Given the description of an element on the screen output the (x, y) to click on. 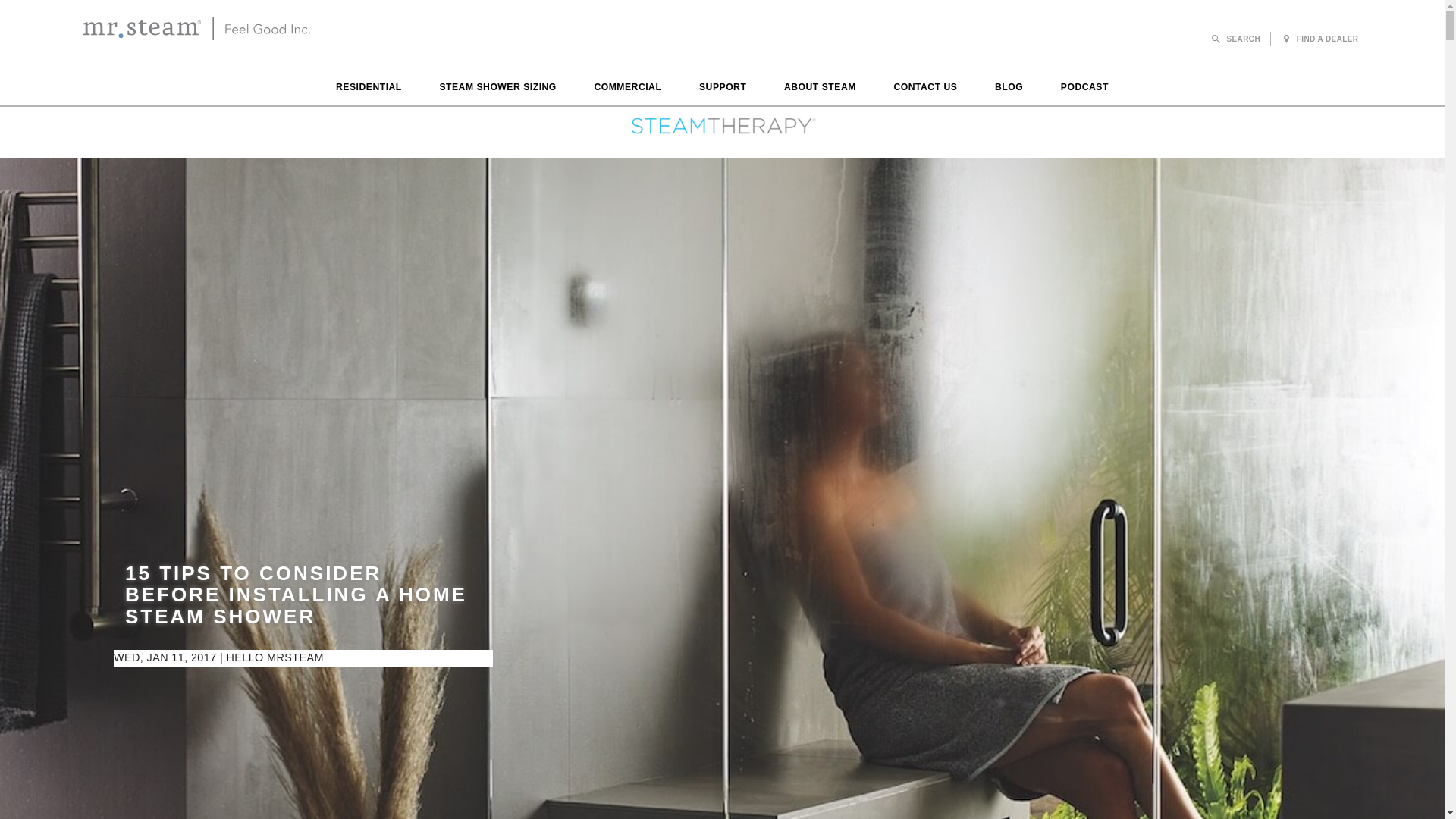
BLOG (1008, 89)
CONTACT US (925, 89)
RESIDENTIAL (368, 89)
PODCAST (1084, 89)
FIND A DEALER (1320, 39)
SUPPORT (722, 89)
SEARCH (1236, 39)
ABOUT STEAM (820, 89)
COMMERCIAL (628, 89)
STEAM SHOWER SIZING (497, 89)
